Given the description of an element on the screen output the (x, y) to click on. 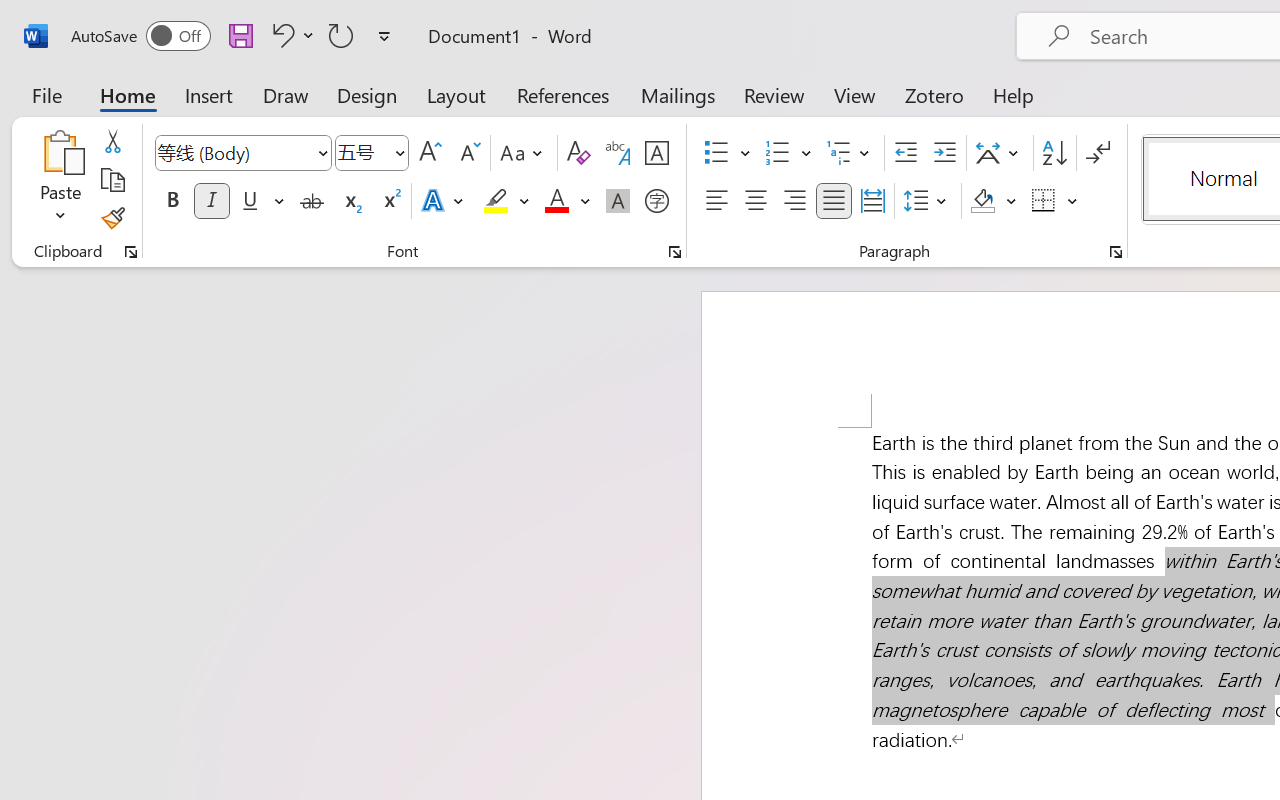
Multilevel List (850, 153)
Copy (112, 179)
Superscript (390, 201)
Font Color Red (556, 201)
Text Effects and Typography (444, 201)
Align Left (716, 201)
Paragraph... (1115, 252)
Clear Formatting (578, 153)
Phonetic Guide... (618, 153)
Grow Font (430, 153)
Change Case (524, 153)
